Given the description of an element on the screen output the (x, y) to click on. 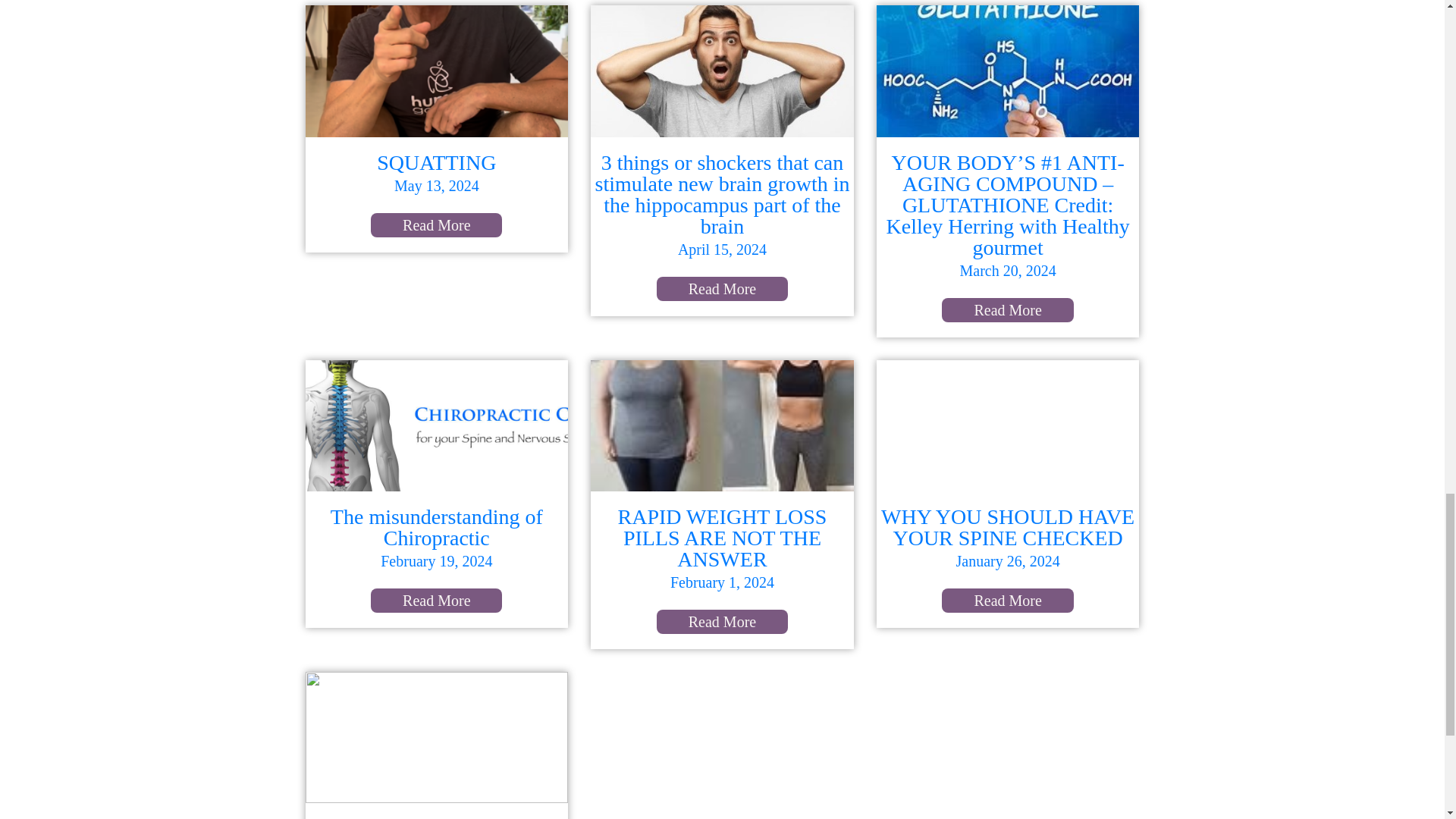
Read More (436, 224)
SQUATTING (436, 162)
May 13, 2024 (436, 185)
